Given the description of an element on the screen output the (x, y) to click on. 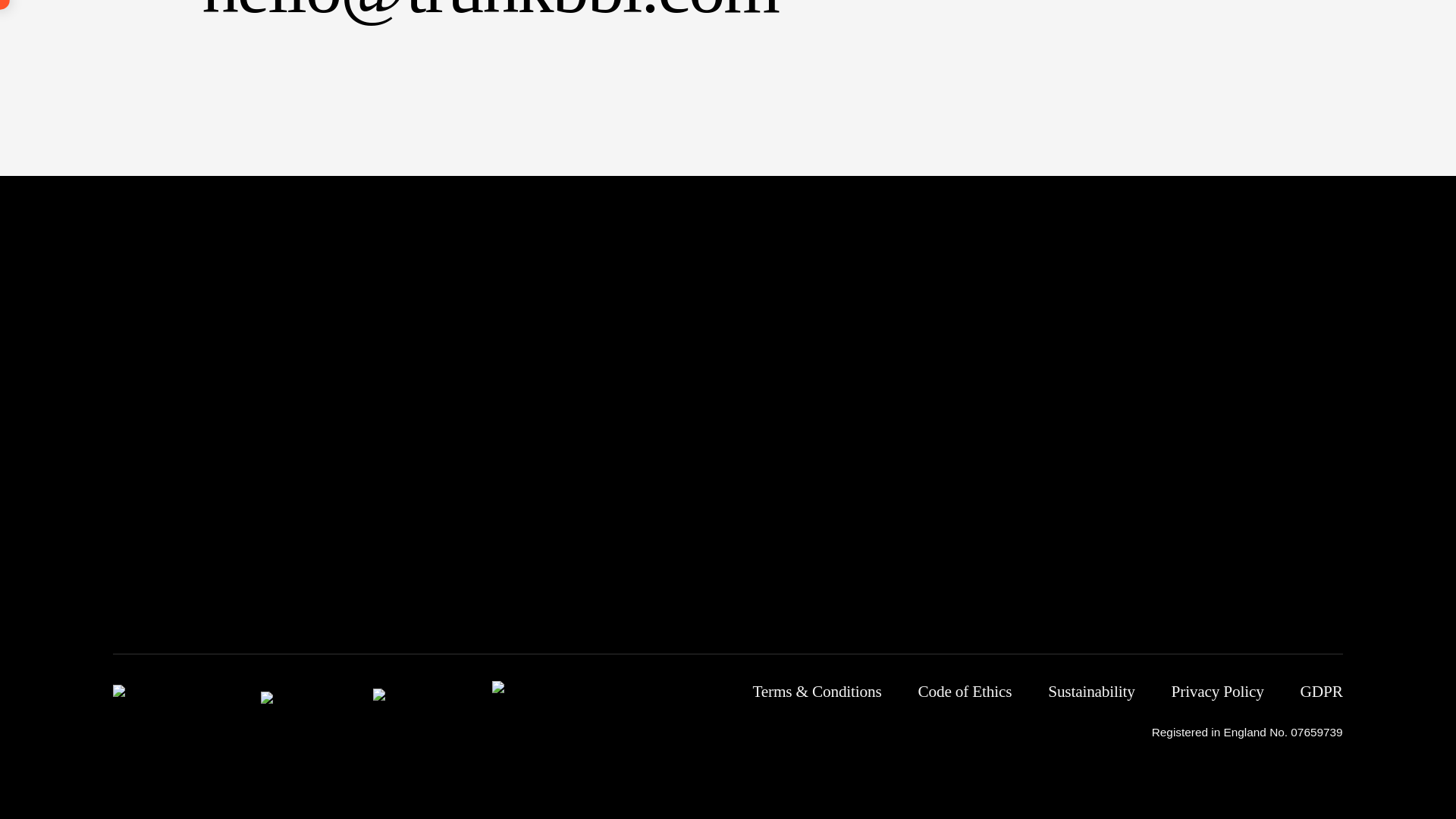
Privacy Policy (1217, 691)
Sustainability (1091, 691)
GDPR (1321, 691)
Code of Ethics (964, 691)
